Given the description of an element on the screen output the (x, y) to click on. 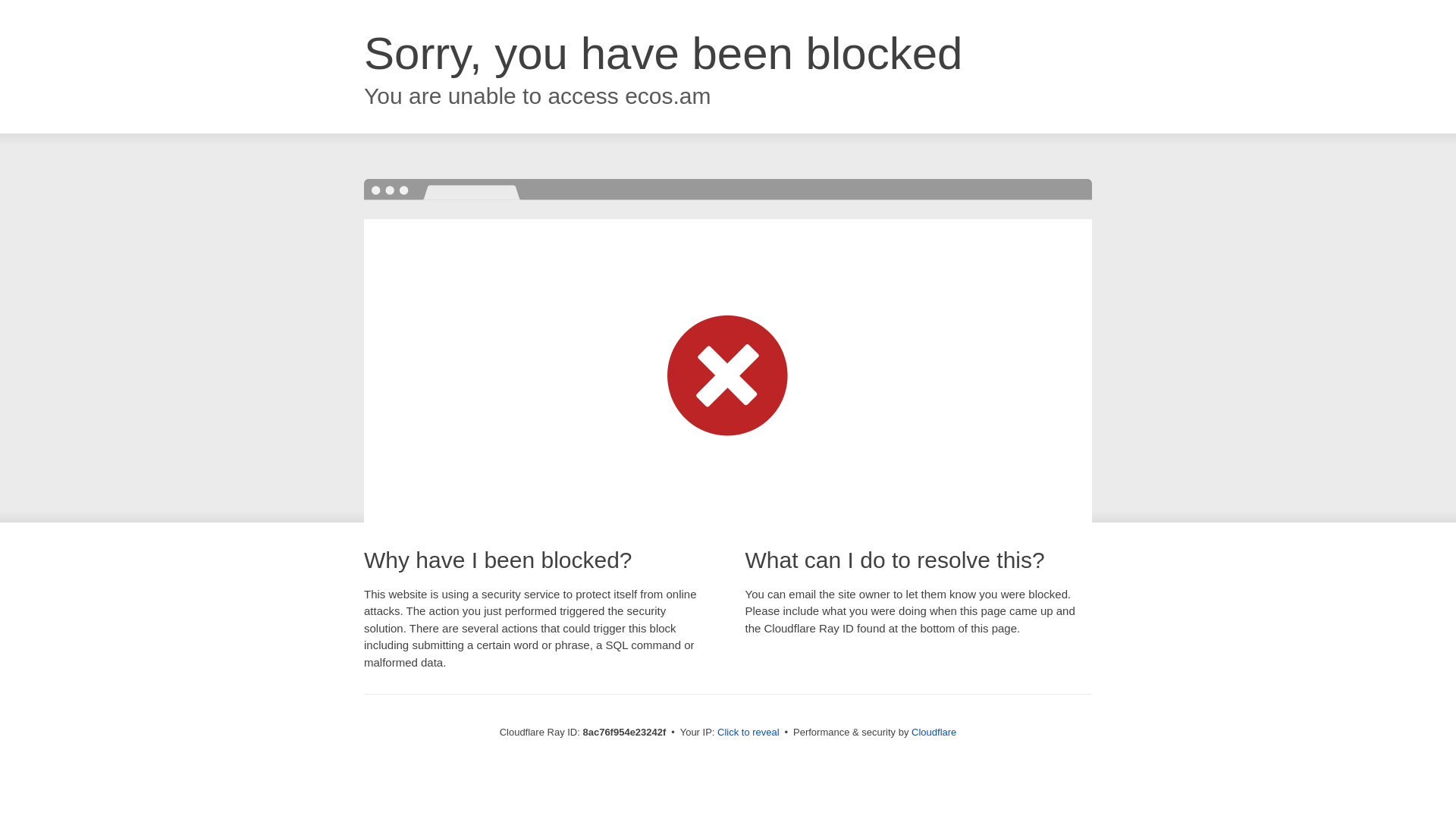
Click to reveal (747, 732)
Cloudflare (933, 731)
